Given the description of an element on the screen output the (x, y) to click on. 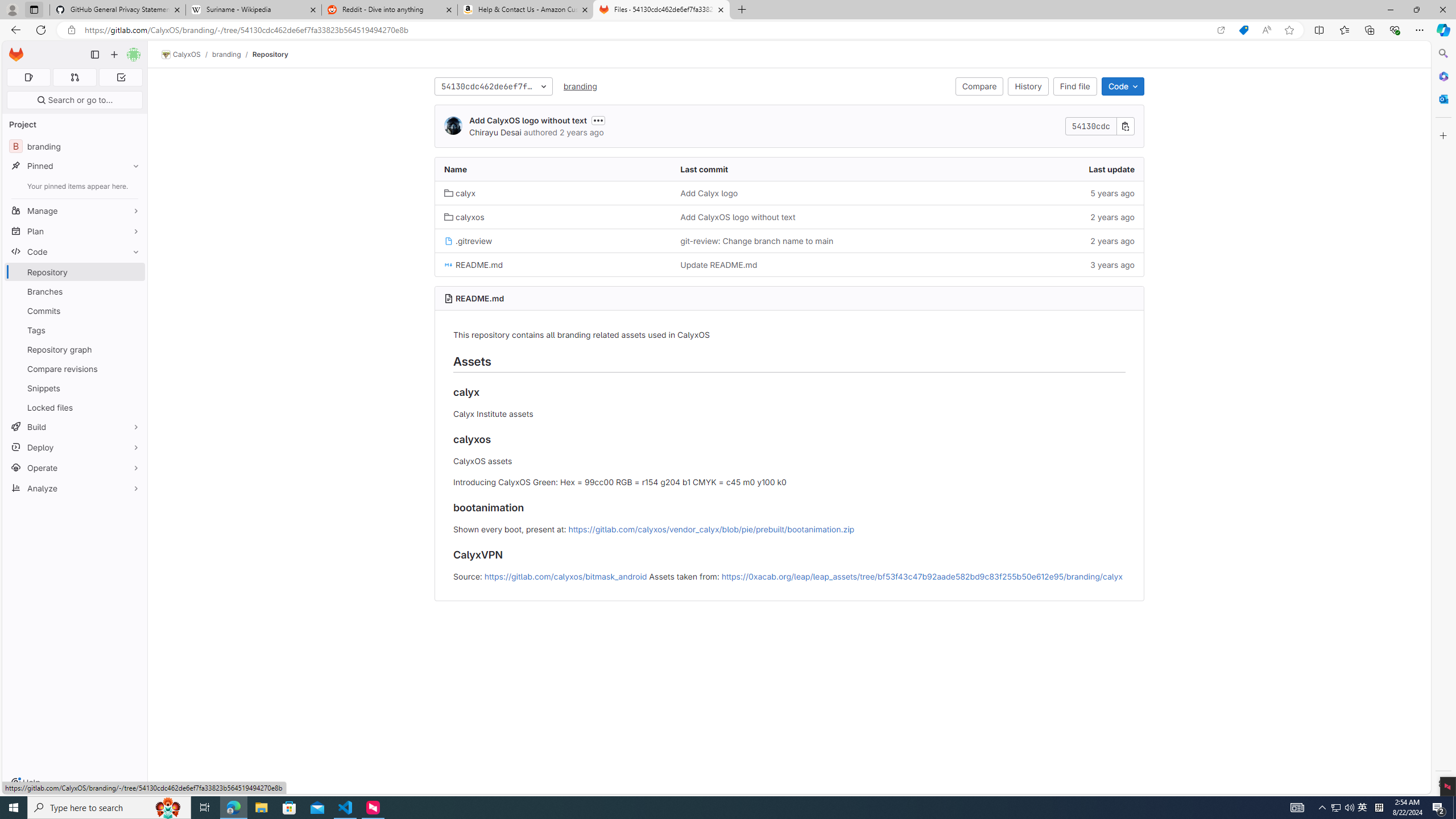
Homepage (16, 54)
calyxos (553, 216)
Repository graph (74, 348)
calyxos (464, 216)
Repository (269, 53)
.gitreview (468, 240)
Snippets (74, 387)
Pin Branches (132, 291)
2 years ago (1025, 240)
Create new... (113, 54)
calyx (553, 192)
